Given the description of an element on the screen output the (x, y) to click on. 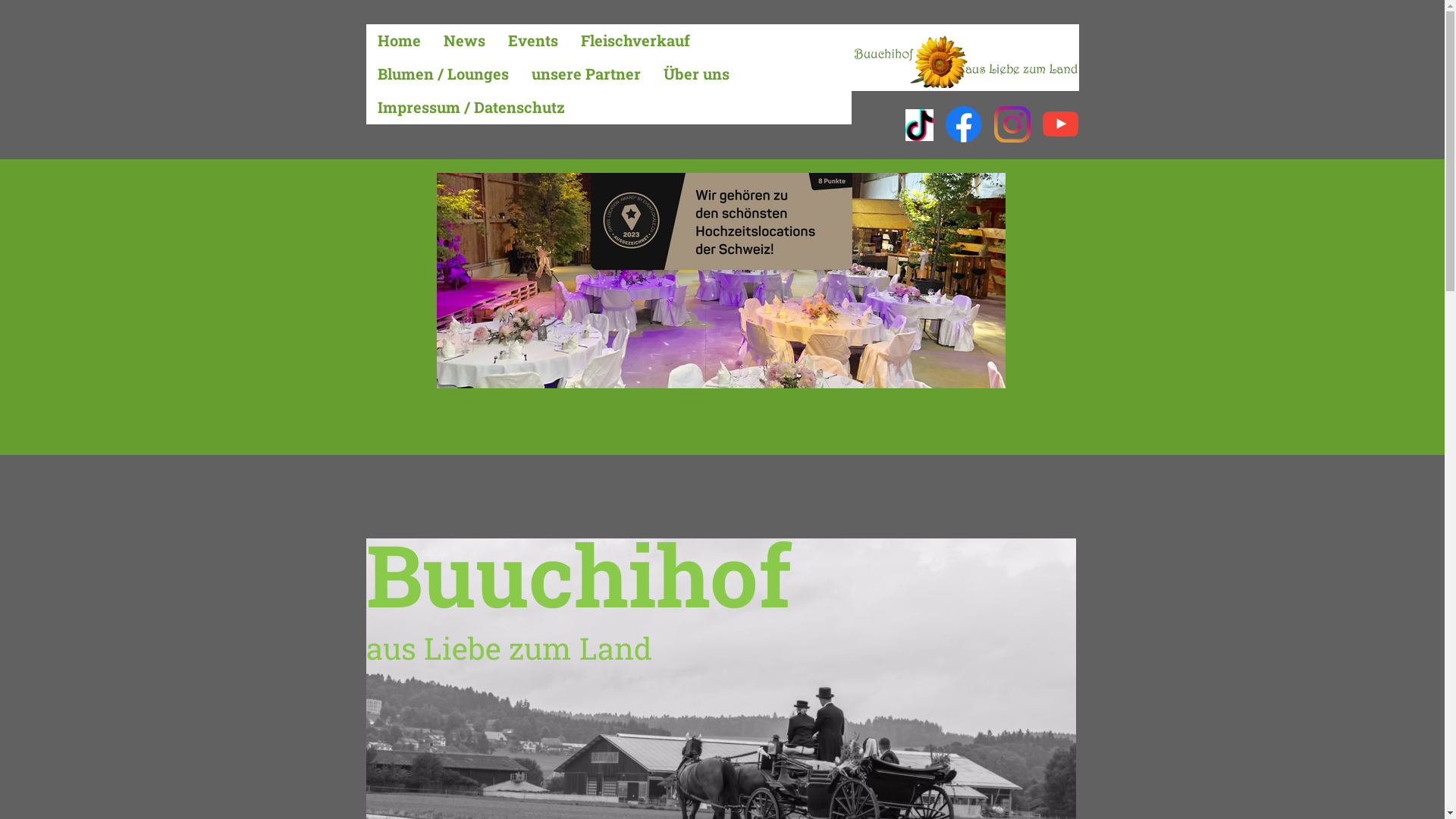
Home Element type: text (398, 40)
News Element type: text (464, 40)
Blumen / Lounges Element type: text (442, 74)
Events Element type: text (531, 40)
Fleischverkauf Element type: text (634, 40)
unsere Partner Element type: text (586, 74)
Impressum / Datenschutz Element type: text (470, 107)
